Given the description of an element on the screen output the (x, y) to click on. 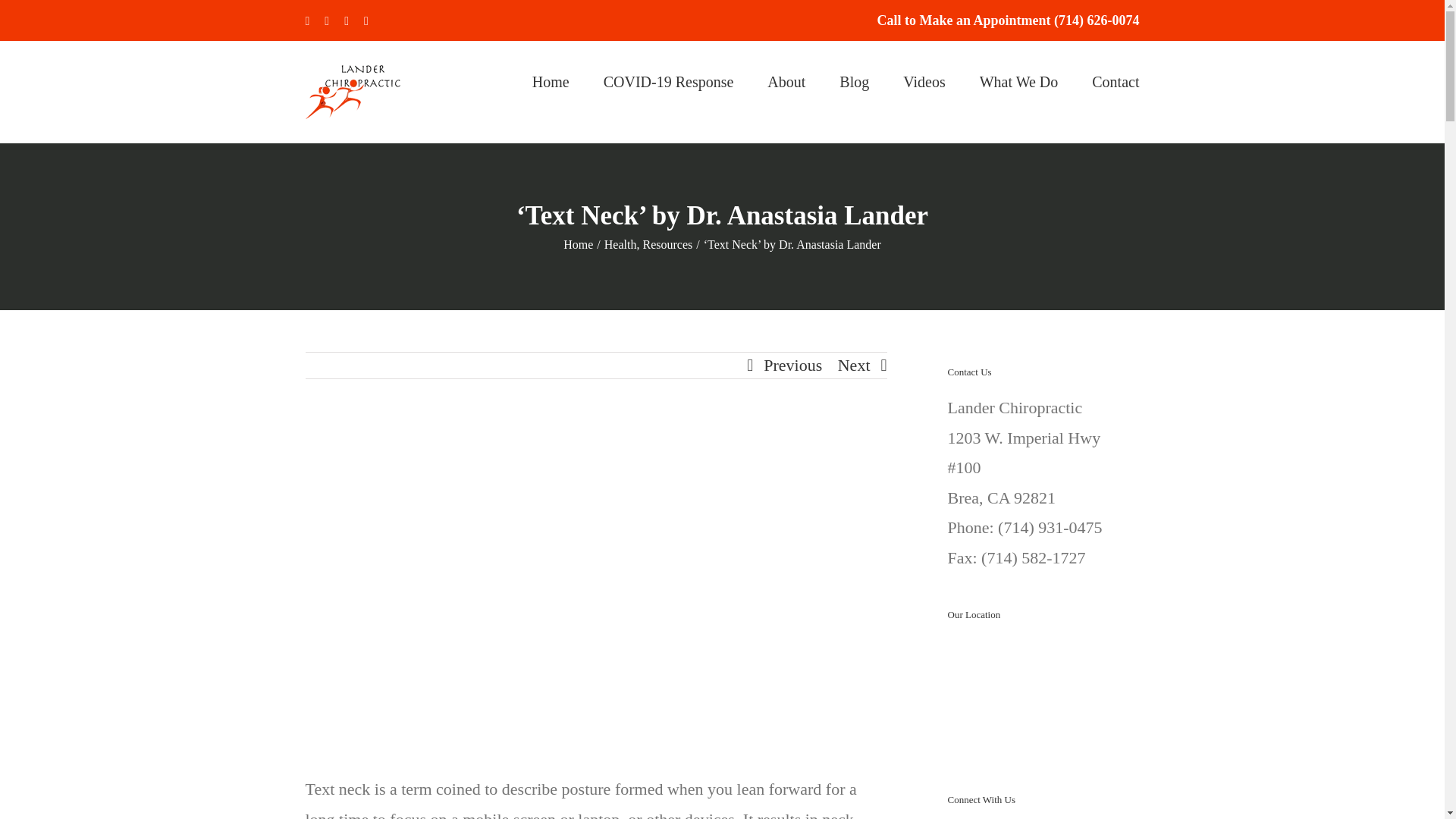
Resources (667, 244)
Next (854, 365)
Home (577, 244)
Previous (792, 365)
COVID-19 Response (668, 80)
What We Do (1018, 80)
Health (620, 244)
